Given the description of an element on the screen output the (x, y) to click on. 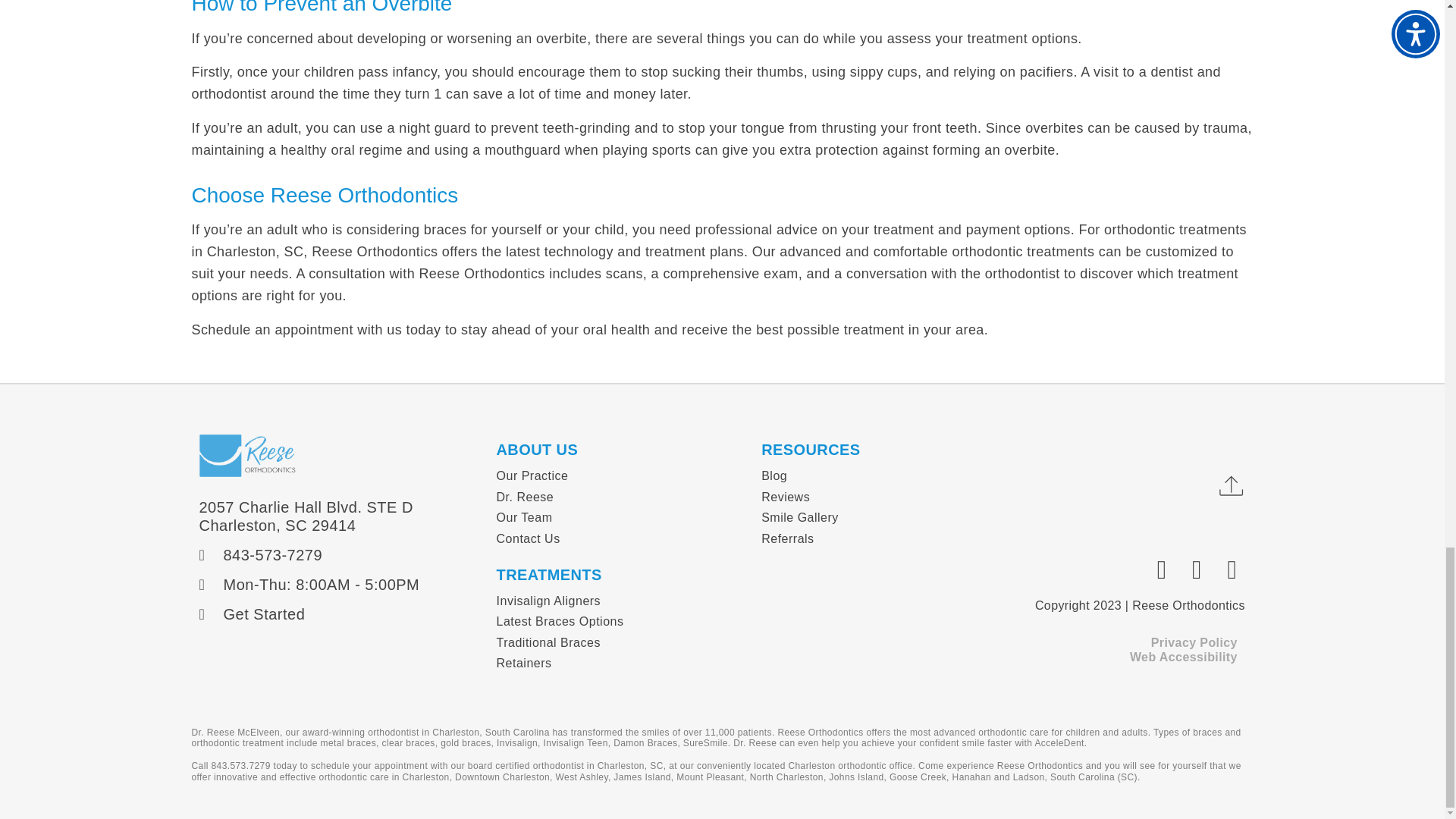
Blog (870, 475)
Reviews (870, 497)
Retainers (621, 663)
Dr. Reese (621, 497)
Referrals (870, 538)
Traditional Braces (621, 642)
Invisalign Aligners (621, 600)
Smile Gallery (870, 517)
843-573-7279 (339, 555)
Latest Braces Options (621, 621)
Privacy Policy (1194, 642)
Get Started (339, 614)
Our Team (621, 517)
Contact Us (621, 538)
RESOURCES (810, 449)
